Given the description of an element on the screen output the (x, y) to click on. 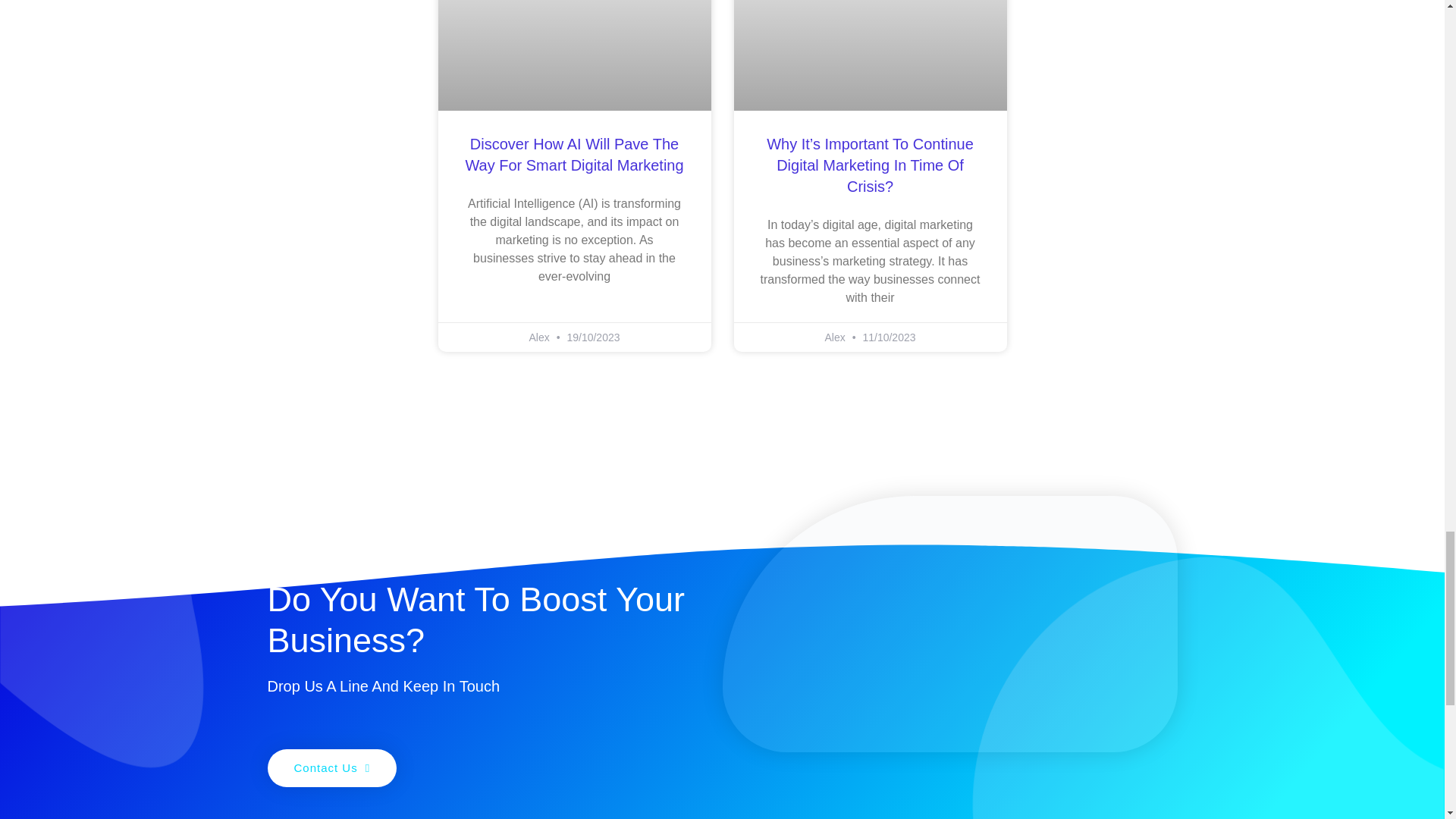
Contact Us (331, 768)
